Given the description of an element on the screen output the (x, y) to click on. 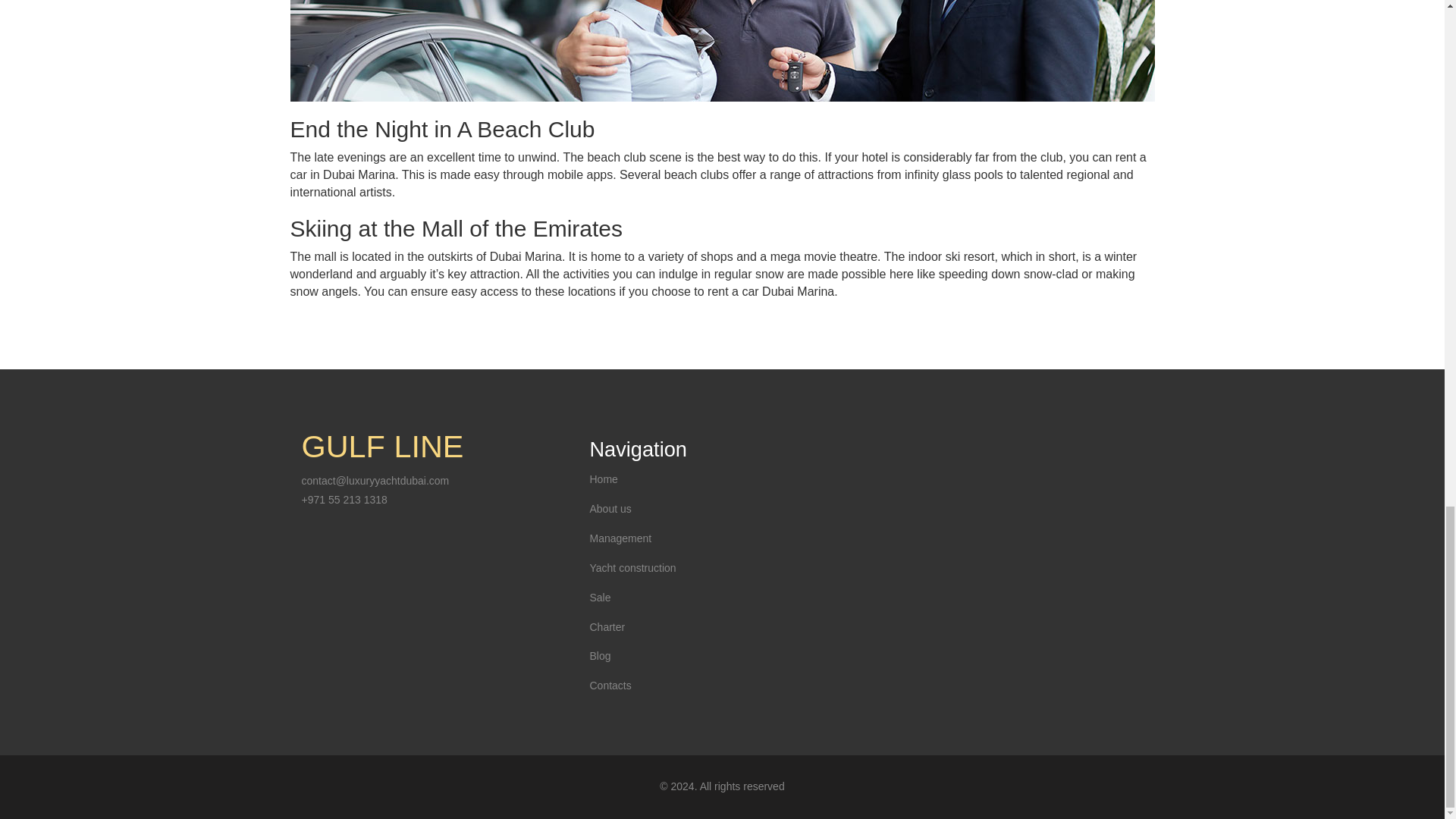
Blog (599, 655)
Charter (606, 626)
Home (603, 479)
About us (609, 508)
Sale (599, 597)
GULF LINE (382, 446)
Contacts (609, 685)
Management (619, 538)
Yacht construction (632, 567)
